Given the description of an element on the screen output the (x, y) to click on. 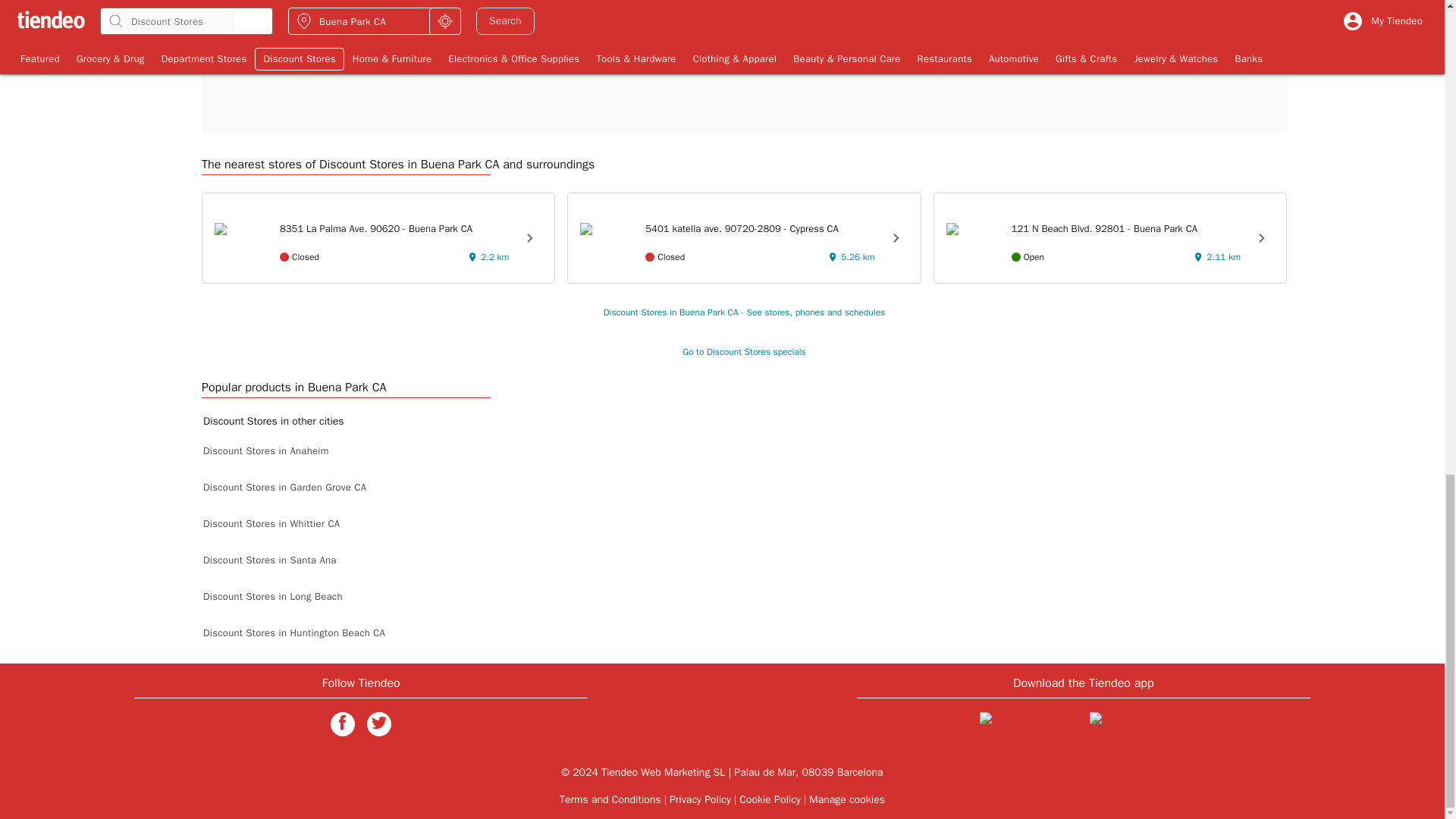
facebook (342, 723)
twitter (378, 723)
Android App (1138, 726)
iOS App (1028, 726)
